Given the description of an element on the screen output the (x, y) to click on. 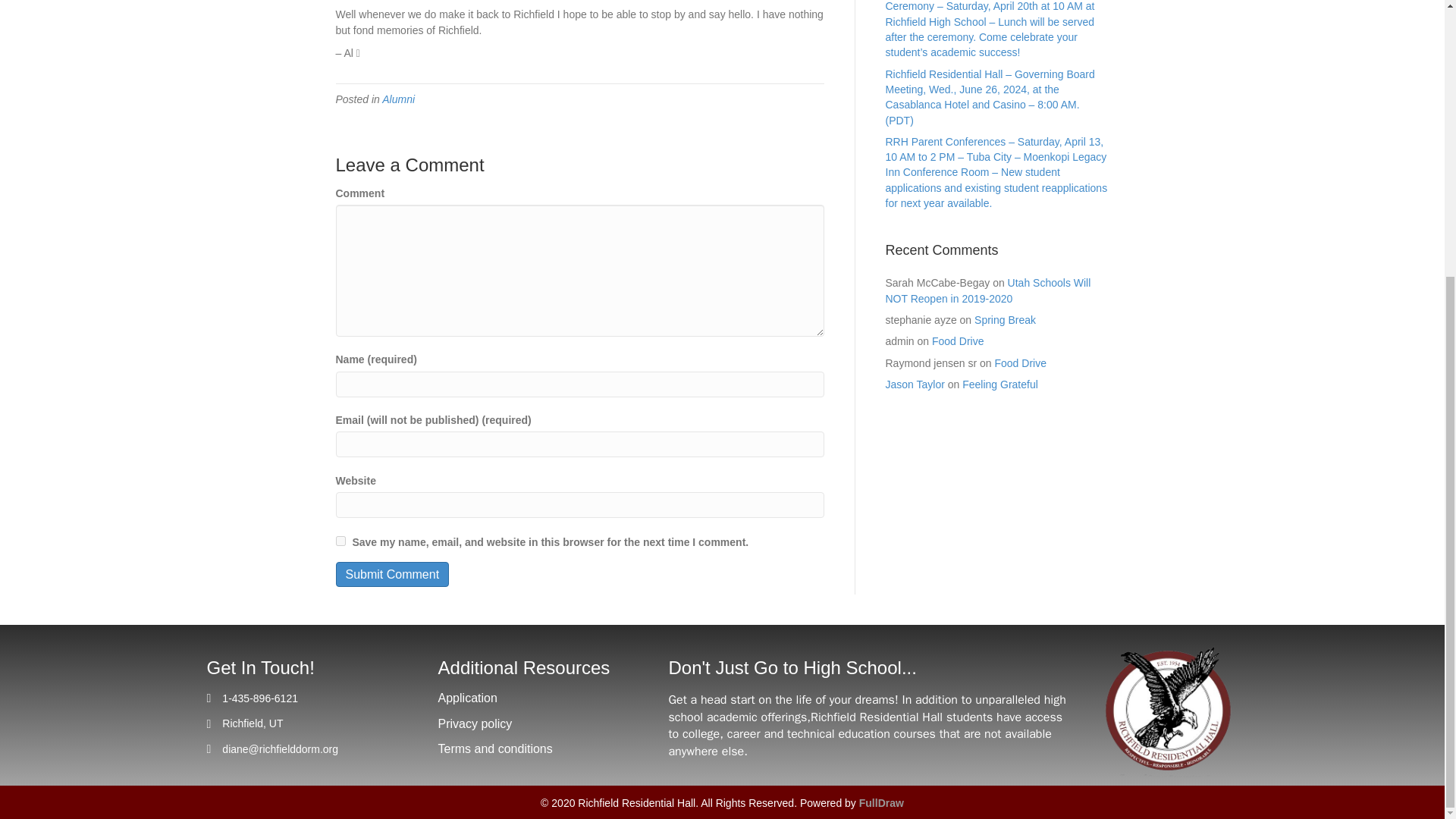
1-435-896-6121 (260, 698)
Utah Schools Will NOT Reopen in 2019-2020 (987, 289)
Jason Taylor (914, 384)
Submit Comment (391, 574)
Spring Break (1004, 319)
Alumni (397, 99)
Submit Comment (391, 574)
Richfield, UT (252, 723)
Food Drive (957, 340)
Food Drive (1019, 363)
yes (339, 541)
Feeling Grateful (1000, 384)
